Given the description of an element on the screen output the (x, y) to click on. 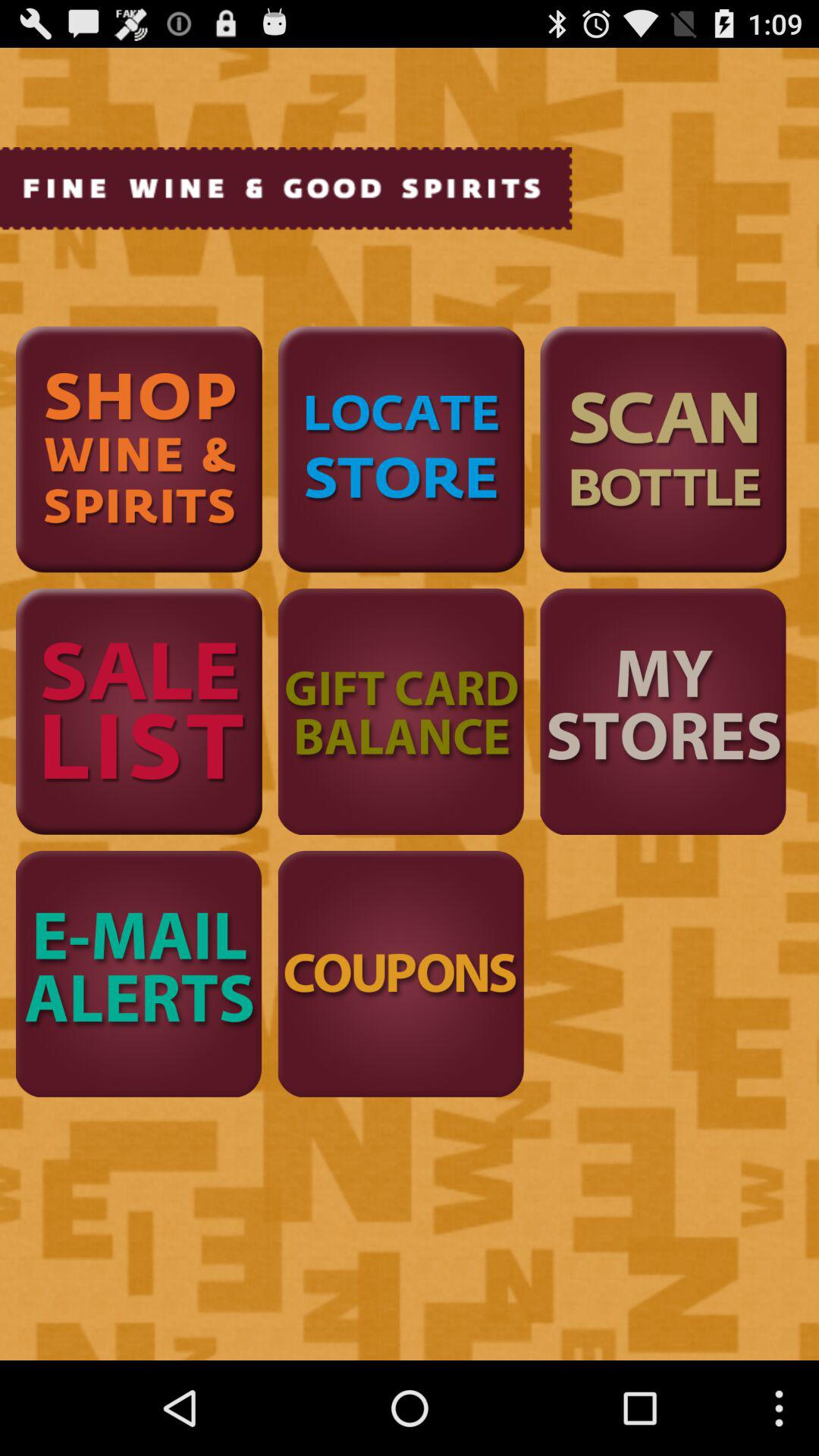
coupons button (401, 973)
